Given the description of an element on the screen output the (x, y) to click on. 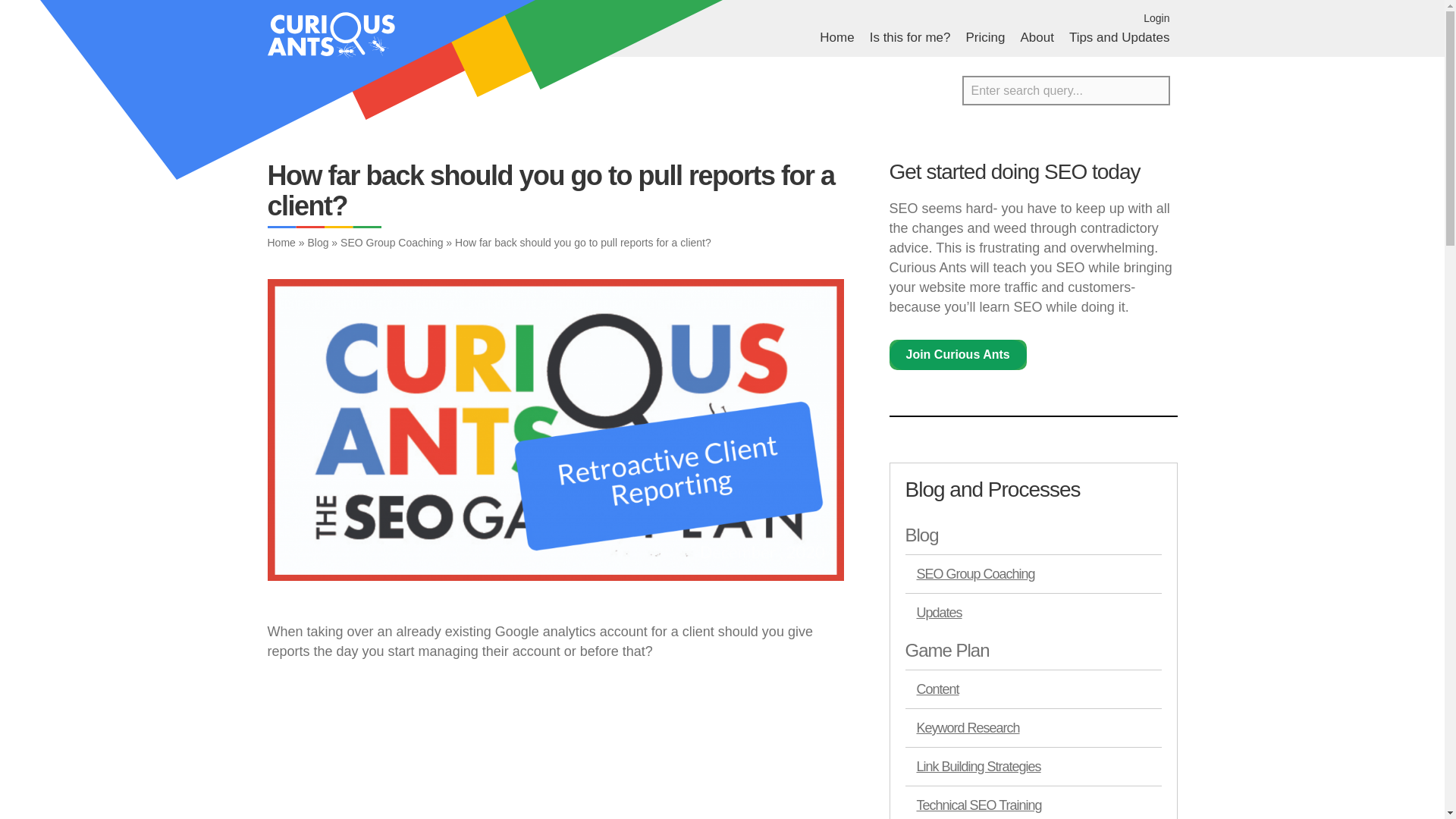
Is this for me? (909, 37)
SEO Group Coaching (1033, 573)
Content (1033, 688)
Game Plan (1033, 650)
Home (836, 37)
Join Curious Ants (957, 354)
Updates (1033, 611)
How far back should you go to pull reports for a client? (456, 751)
Blog (1033, 535)
Login (1155, 18)
About (1036, 37)
Tips and Updates (1119, 37)
Home (280, 242)
Blog (318, 242)
SEO Group Coaching (391, 242)
